Given the description of an element on the screen output the (x, y) to click on. 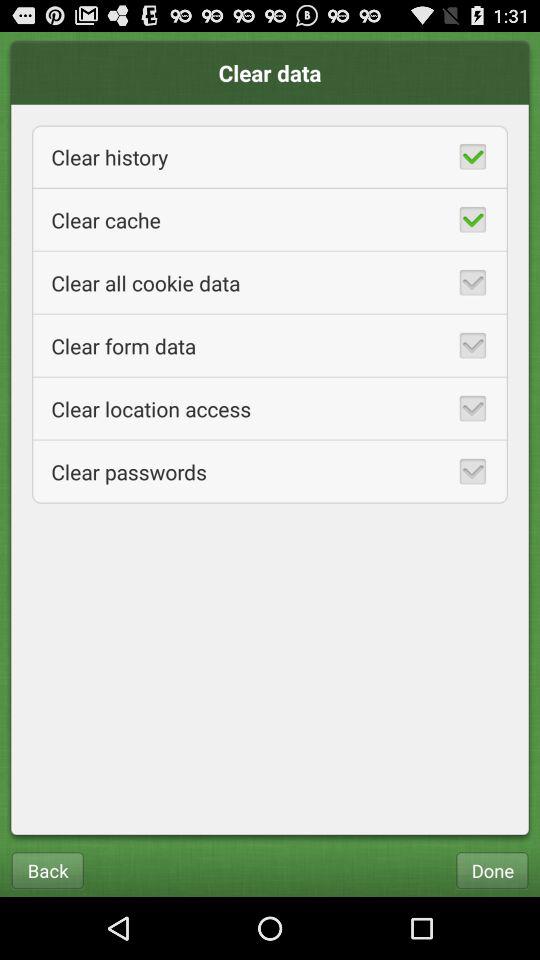
turn off the item at the bottom left corner (47, 870)
